Given the description of an element on the screen output the (x, y) to click on. 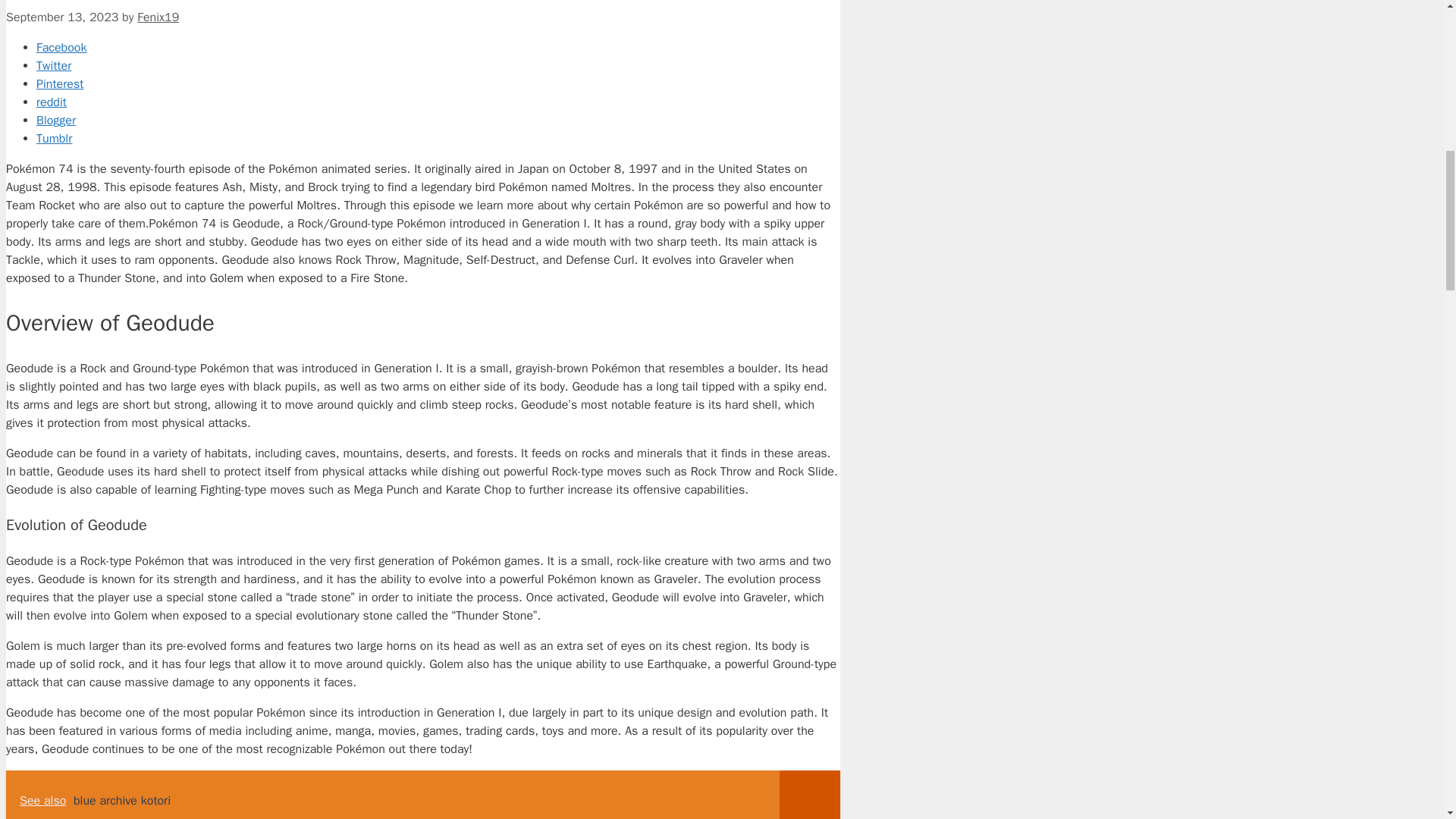
Pinterest (438, 84)
Twitter (438, 65)
Tumblr (438, 138)
View all posts by Fenix19 (157, 17)
Fenix19 (157, 17)
Facebook (438, 47)
Blogger (438, 120)
reddit (438, 102)
See also  blue archive kotori (422, 794)
